Given the description of an element on the screen output the (x, y) to click on. 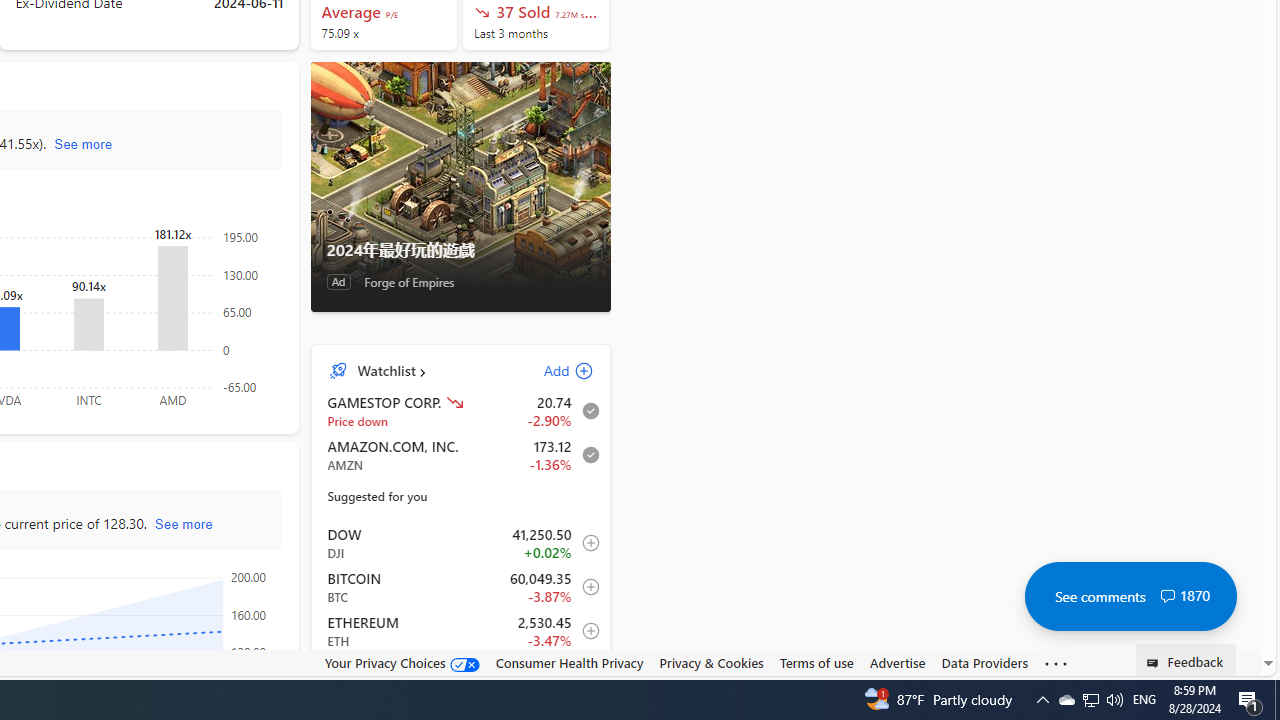
Terms of use (816, 662)
Your Privacy Choices (401, 662)
